Given the description of an element on the screen output the (x, y) to click on. 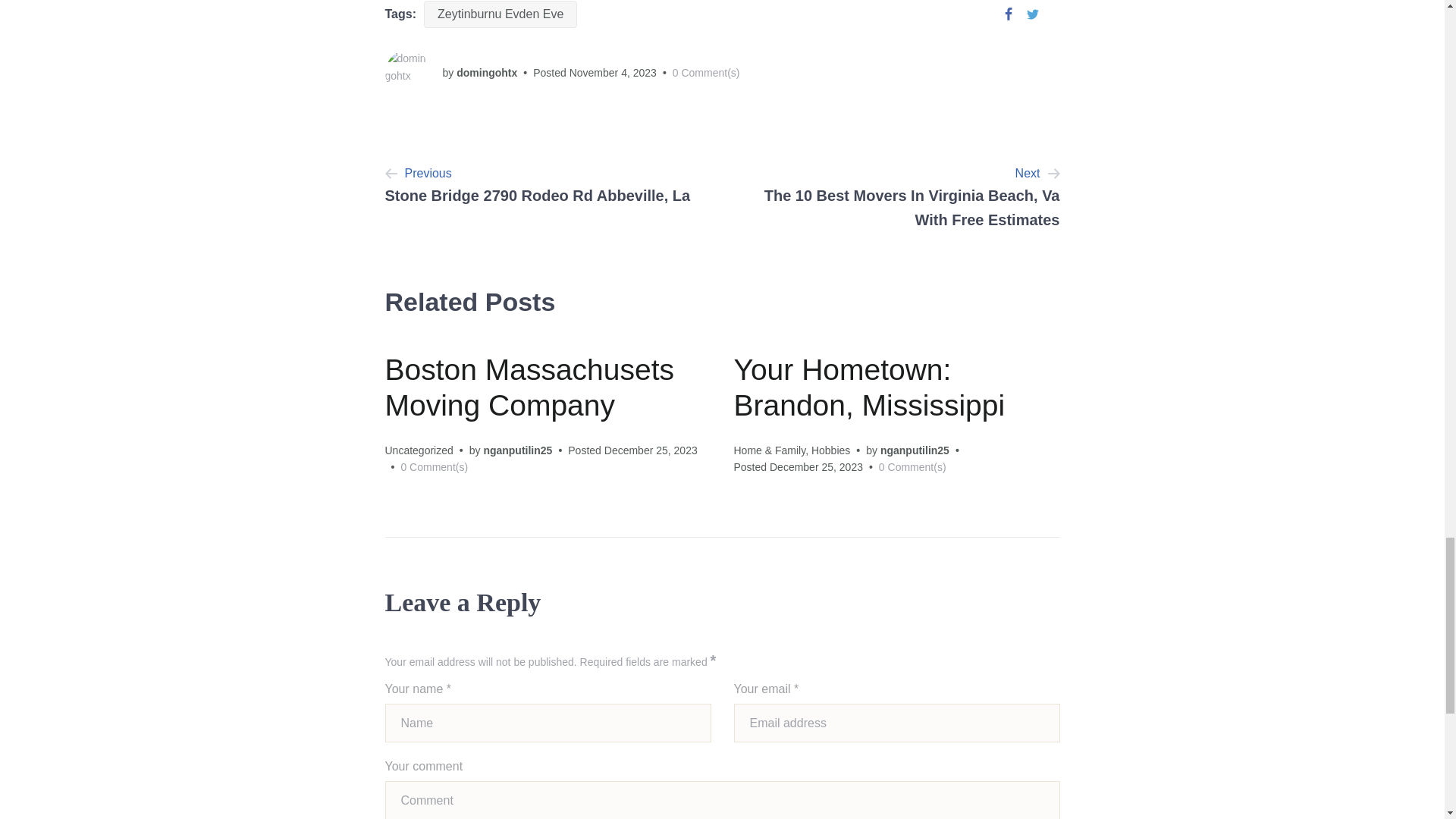
Zeytinburnu Evden Eve (499, 13)
domingohtx (486, 72)
Uncategorized (418, 450)
nganputilin25 (517, 450)
November 4, 2023 (612, 72)
Share on Twitter (1032, 14)
nganputilin25 (914, 450)
December 25, 2023 (816, 467)
Boston Massachusets Moving Company (530, 386)
Your Hometown: Brandon, Mississippi (869, 386)
December 25, 2023 (548, 197)
Share on Facebook (650, 450)
